Given the description of an element on the screen output the (x, y) to click on. 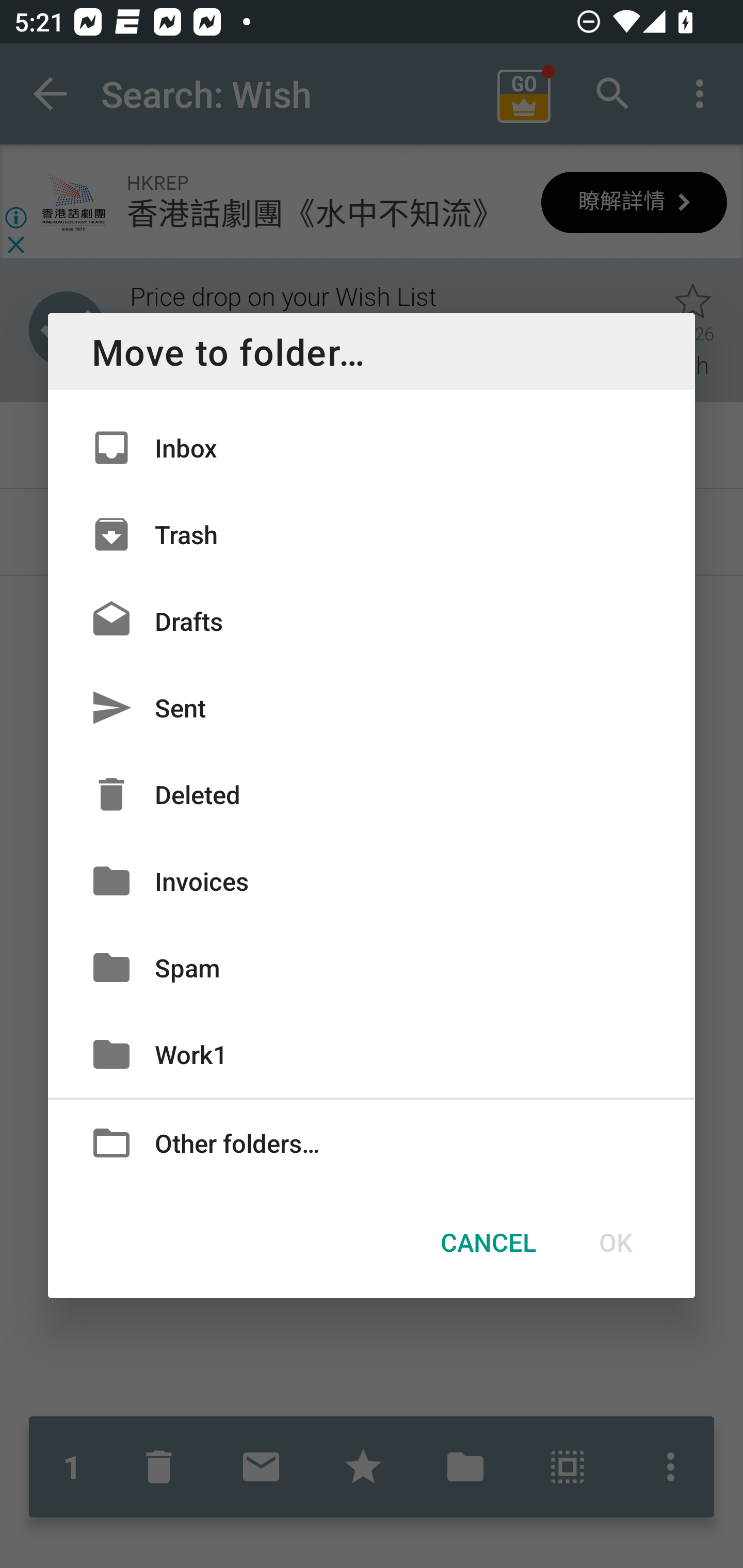
Inbox (371, 447)
Trash (371, 533)
Drafts (371, 620)
Sent (371, 707)
Deleted (371, 794)
Invoices (371, 880)
Spam (371, 967)
Work1 (371, 1054)
Other folders… (371, 1141)
CANCEL (488, 1241)
OK (615, 1241)
